Given the description of an element on the screen output the (x, y) to click on. 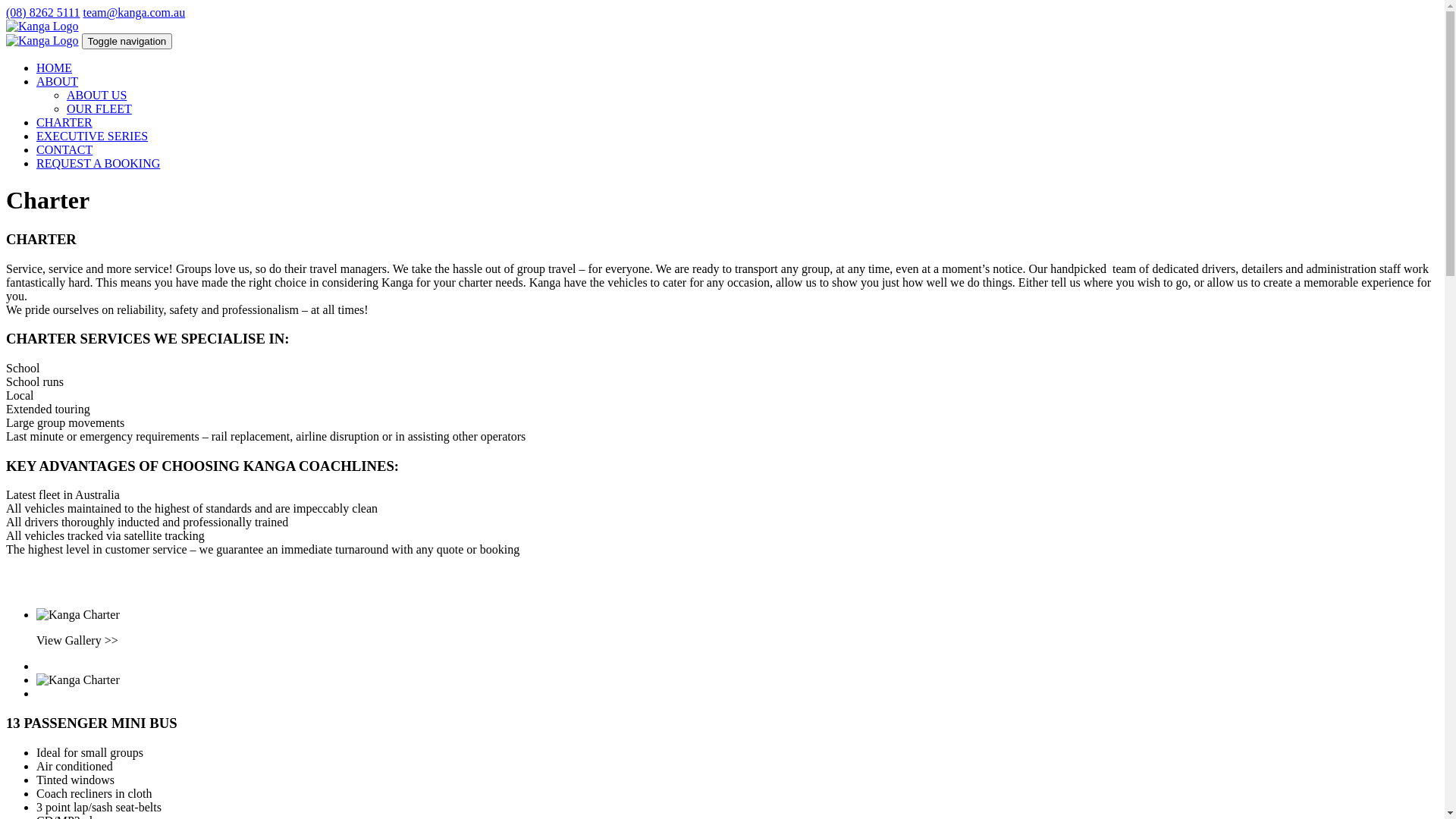
Toggle navigation Element type: text (126, 41)
CHARTER Element type: text (64, 122)
REQUEST A BOOKING Element type: text (98, 162)
HOME Element type: text (54, 67)
team@kanga.com.au Element type: text (133, 12)
OUR FLEET Element type: text (98, 108)
(08) 8262 5111 Element type: text (42, 12)
EXECUTIVE SERIES Element type: text (91, 135)
ABOUT Element type: text (57, 81)
ABOUT US Element type: text (96, 94)
CONTACT Element type: text (64, 149)
